Given the description of an element on the screen output the (x, y) to click on. 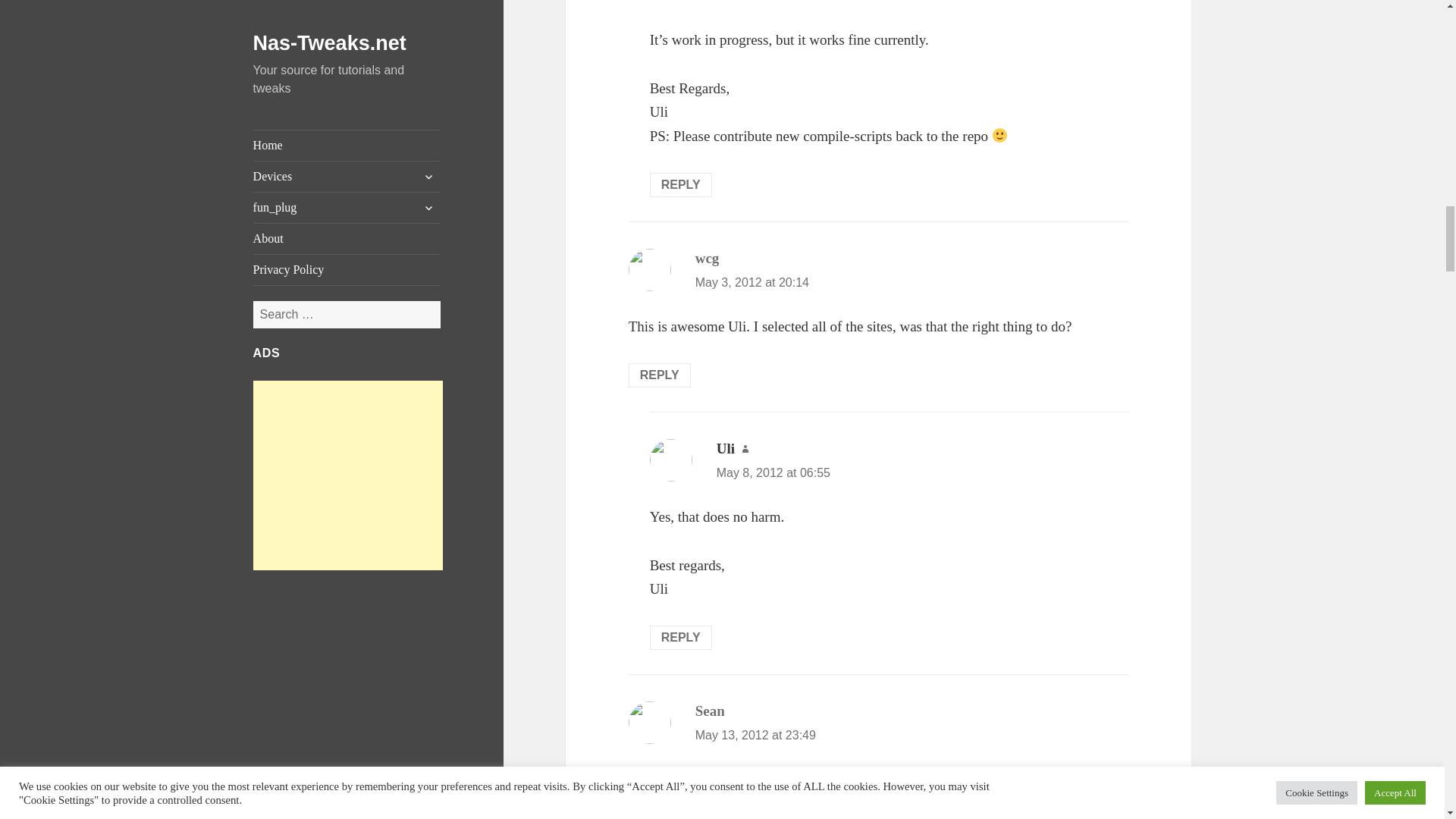
May 8, 2012 at 06:55 (772, 472)
May 3, 2012 at 20:14 (752, 282)
REPLY (659, 375)
REPLY (680, 184)
Uli (725, 448)
